Given the description of an element on the screen output the (x, y) to click on. 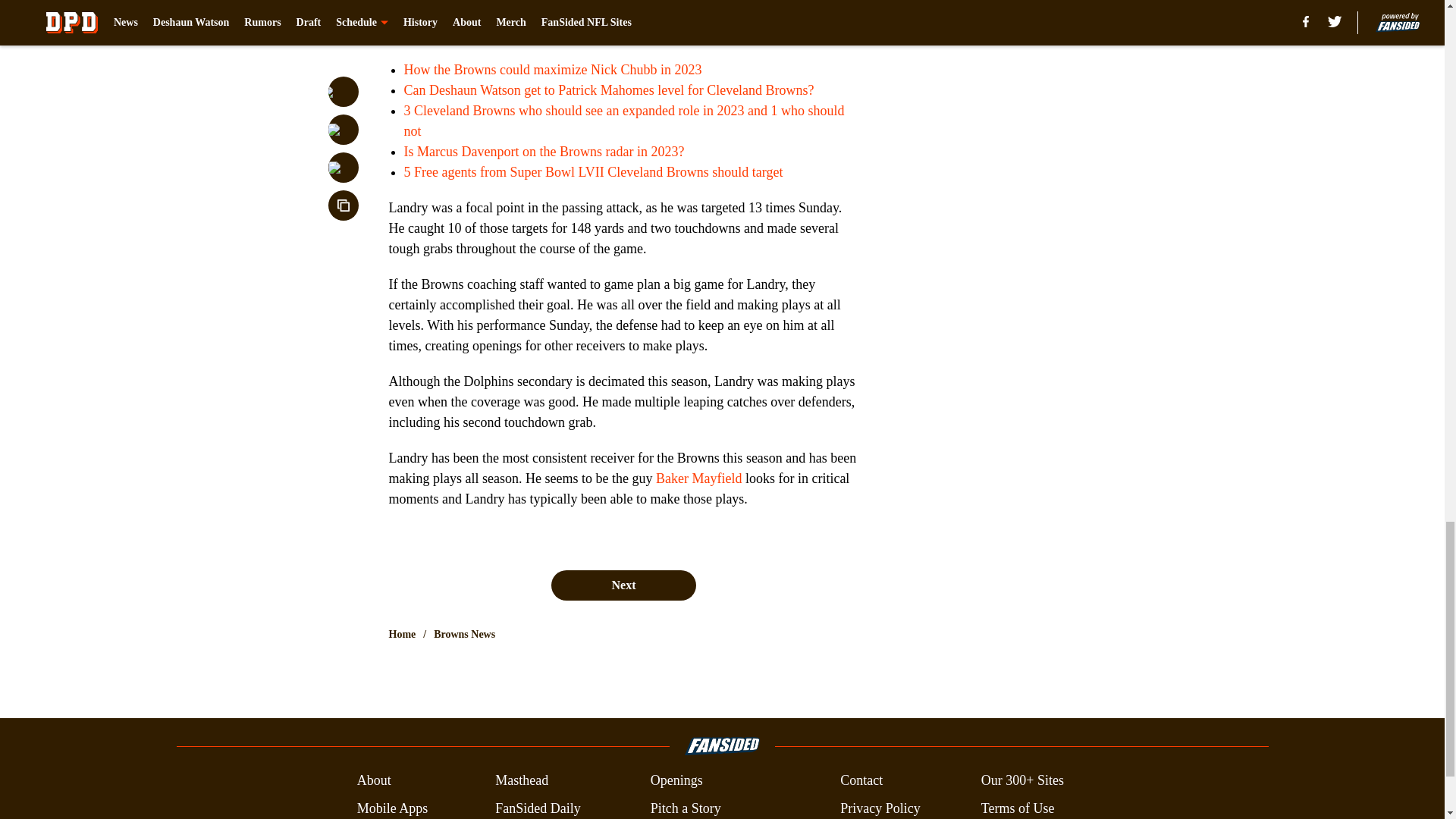
How the Browns could maximize Nick Chubb in 2023 (552, 69)
Is Marcus Davenport on the Browns radar in 2023? (543, 151)
FanSided Daily (537, 808)
Mobile Apps (392, 808)
Contact (861, 780)
Masthead (521, 780)
Next (622, 585)
Home (401, 634)
Browns News (464, 634)
Baker Mayfield (698, 478)
About (373, 780)
Openings (676, 780)
